Given the description of an element on the screen output the (x, y) to click on. 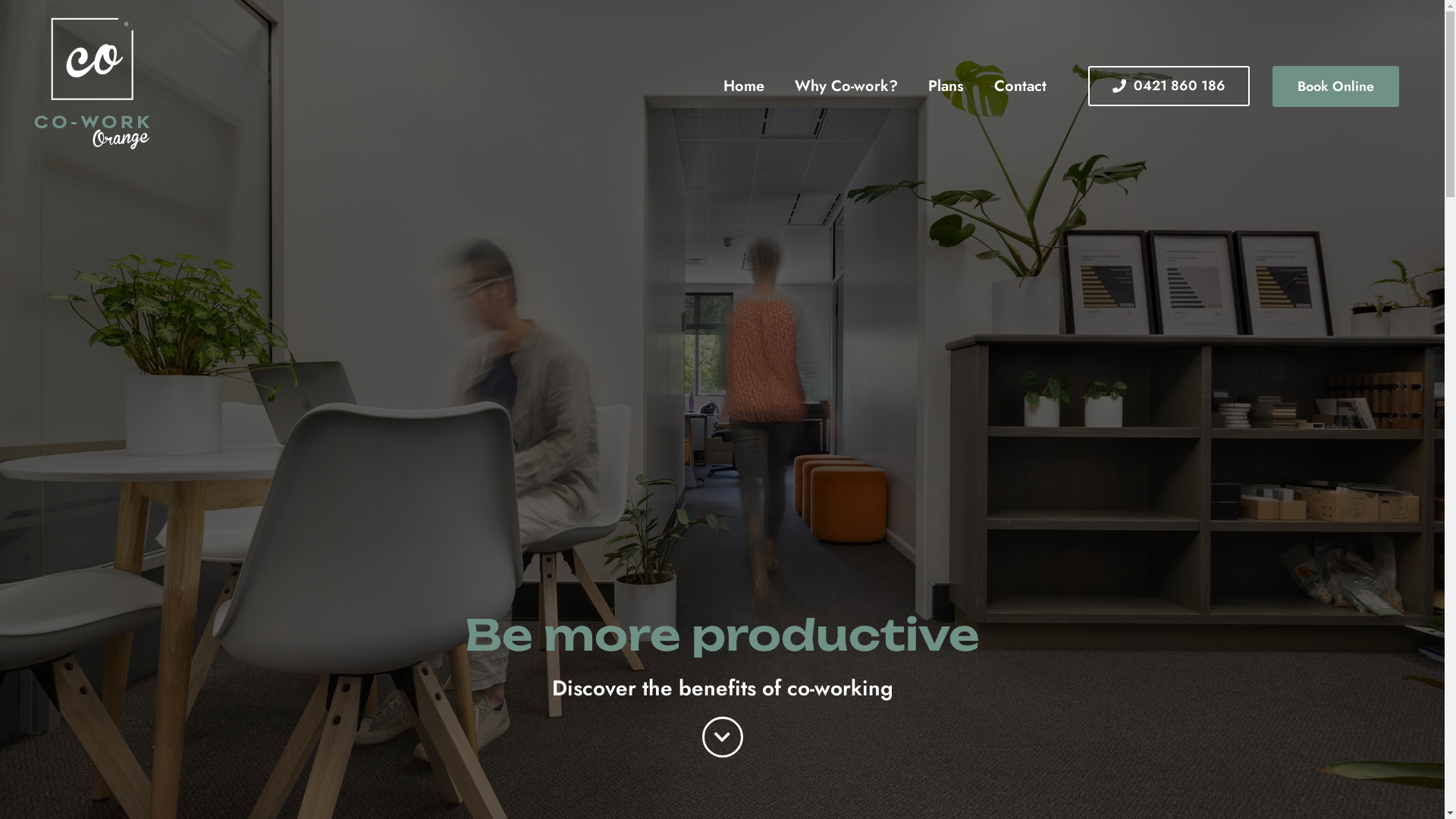
Be more productive Element type: text (721, 634)
Plans Element type: text (946, 85)
0421 860 186 Element type: text (1168, 85)
Home Element type: text (743, 85)
Why Co-work? Element type: text (846, 85)
Contact Element type: text (1020, 85)
Book Online Element type: text (1335, 85)
